Given the description of an element on the screen output the (x, y) to click on. 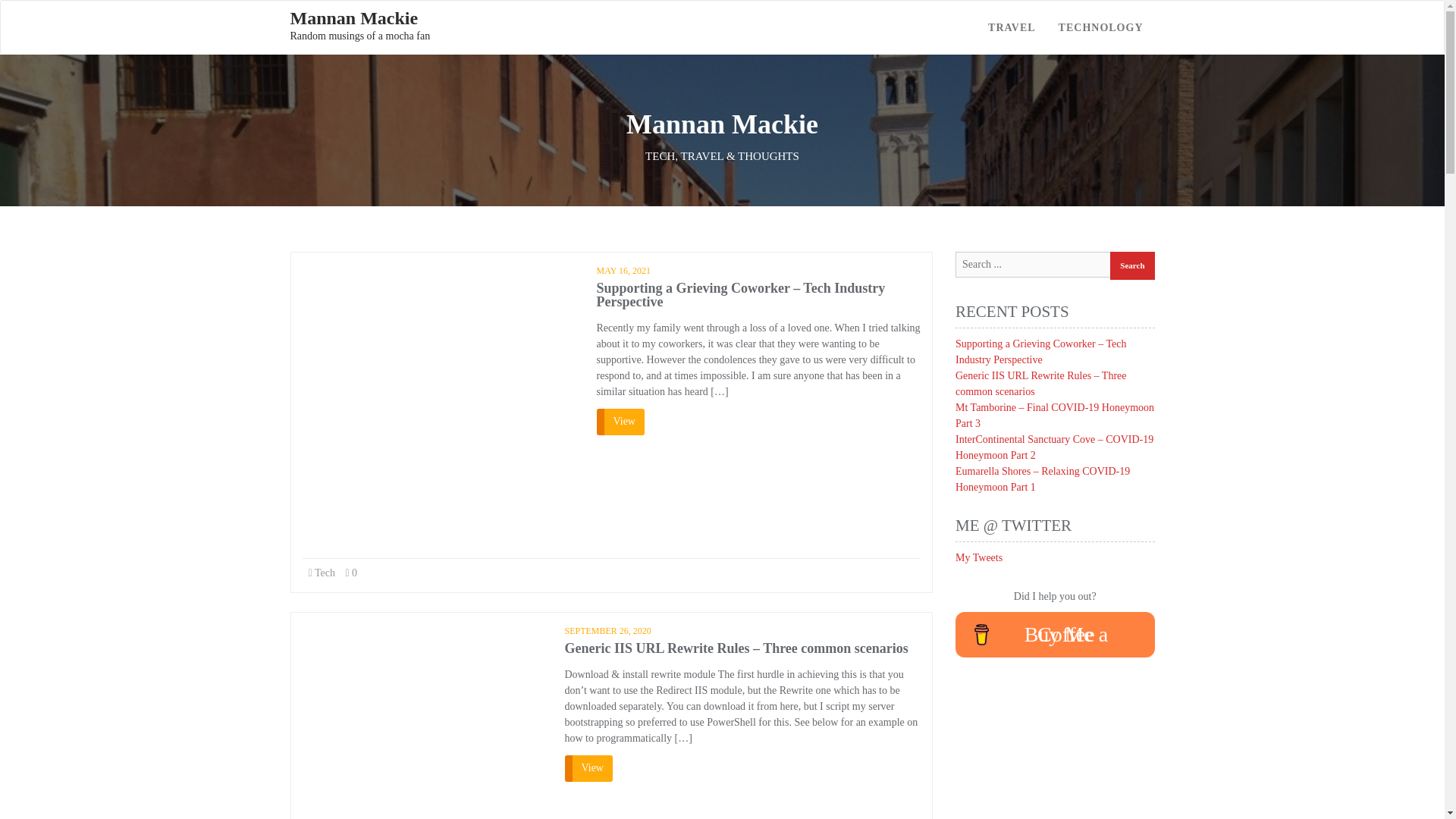
TRAVEL (1011, 27)
SEPTEMBER 26, 2020 (607, 630)
View (619, 421)
MAY 16, 2021 (622, 270)
0 (359, 25)
Search (350, 572)
TECHNOLOGY (1131, 265)
Search (1100, 27)
Tech (1131, 265)
